Given the description of an element on the screen output the (x, y) to click on. 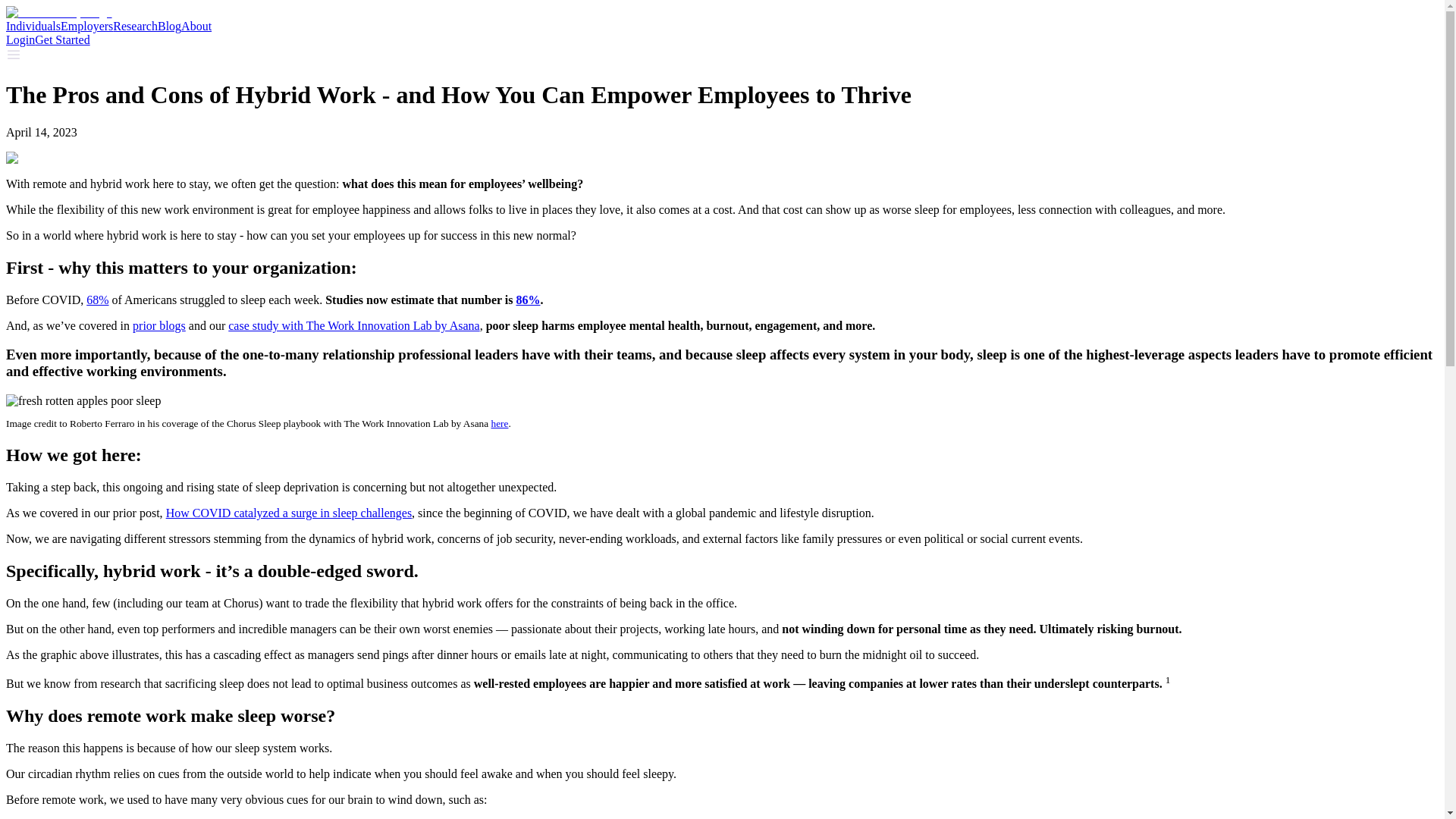
prior blogs (159, 325)
Research (135, 25)
here (500, 423)
Login (19, 39)
Get Started (61, 39)
Employers (87, 25)
Blog (168, 25)
How COVID catalyzed a surge in sleep challenges (288, 512)
Individuals (33, 25)
About (195, 25)
